Given the description of an element on the screen output the (x, y) to click on. 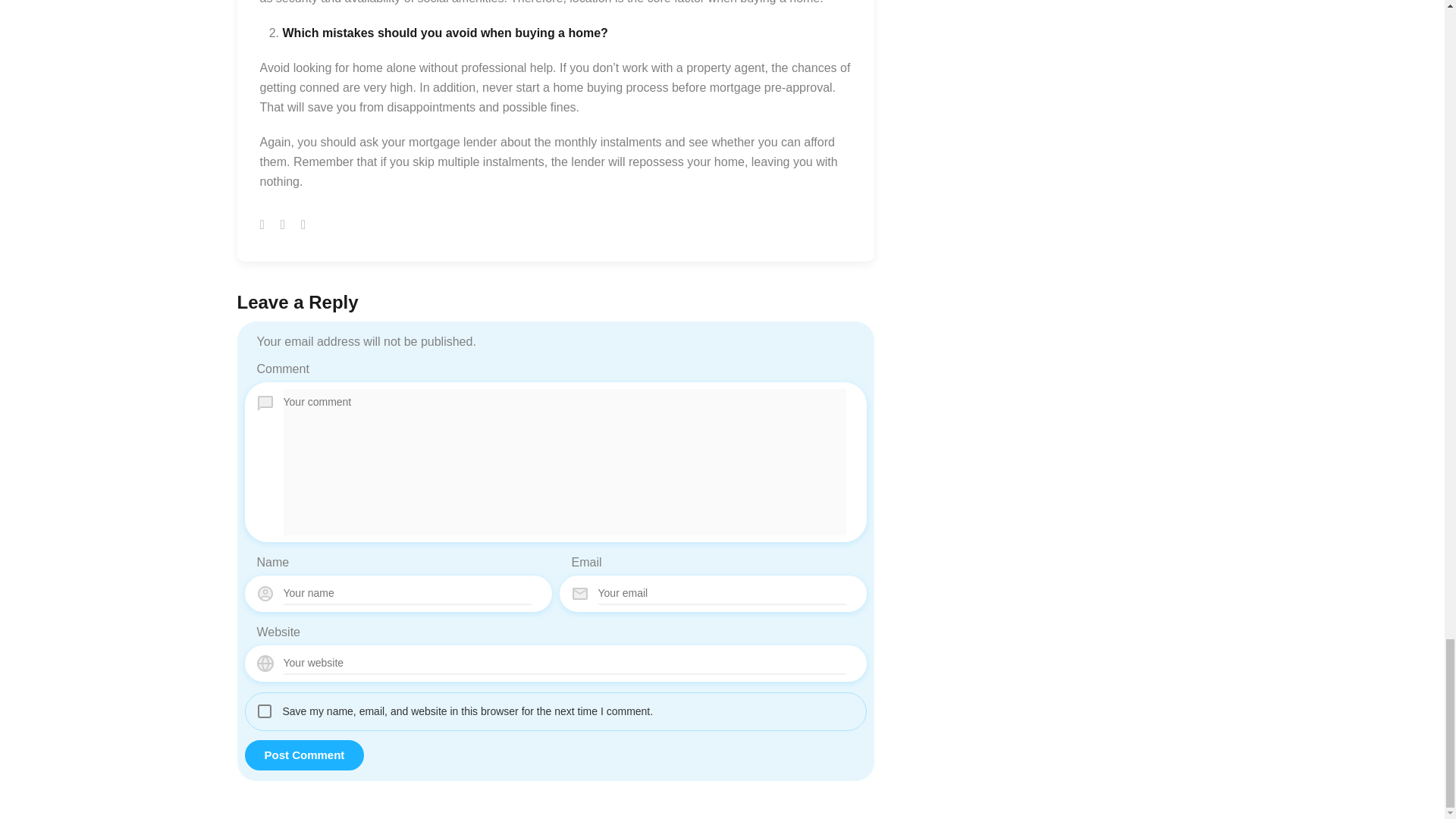
Post Comment (304, 755)
Post Comment (304, 755)
